Given the description of an element on the screen output the (x, y) to click on. 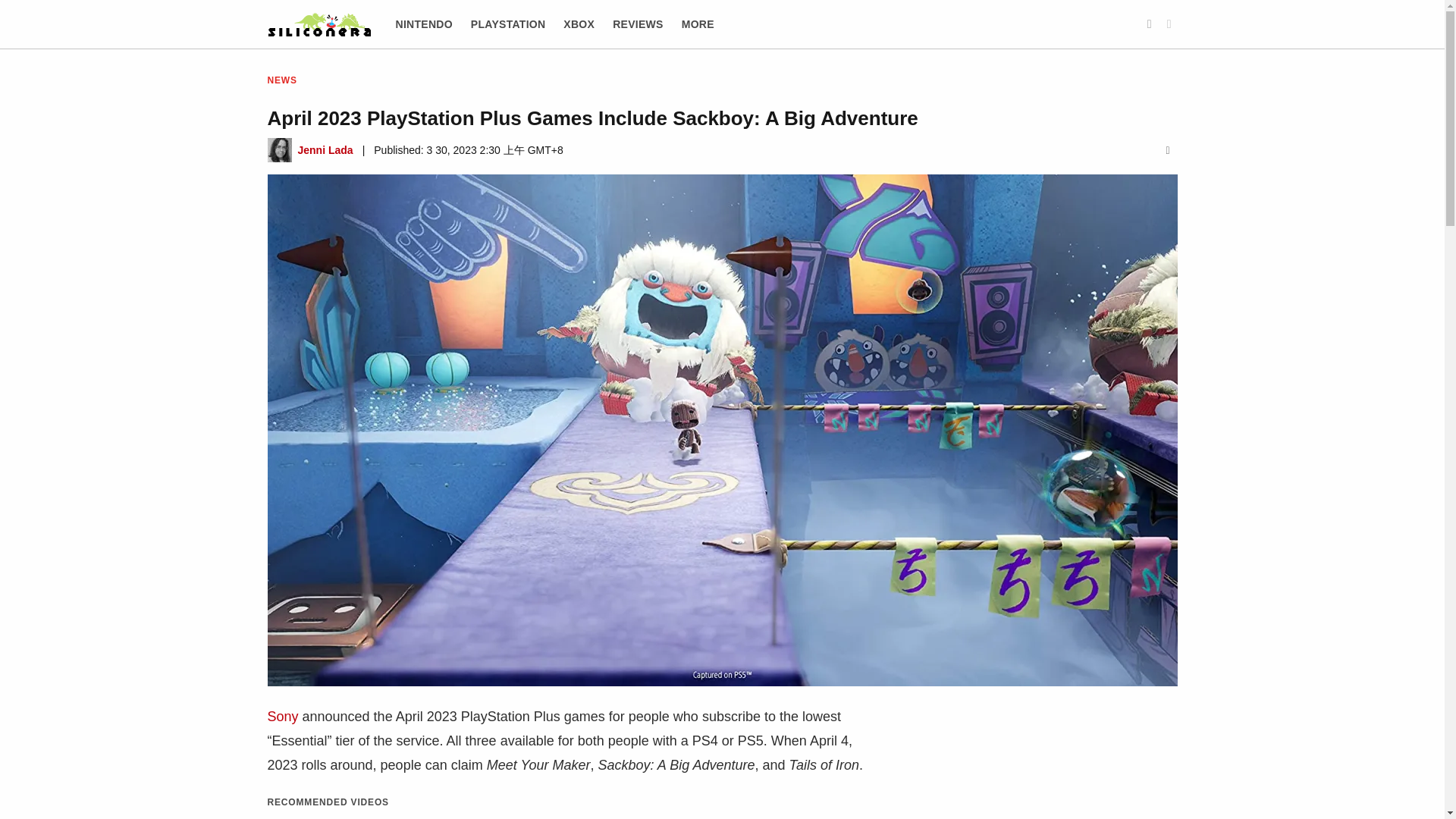
NINTENDO (424, 24)
XBOX (578, 24)
REVIEWS (637, 24)
PLAYSTATION (508, 24)
